Given the description of an element on the screen output the (x, y) to click on. 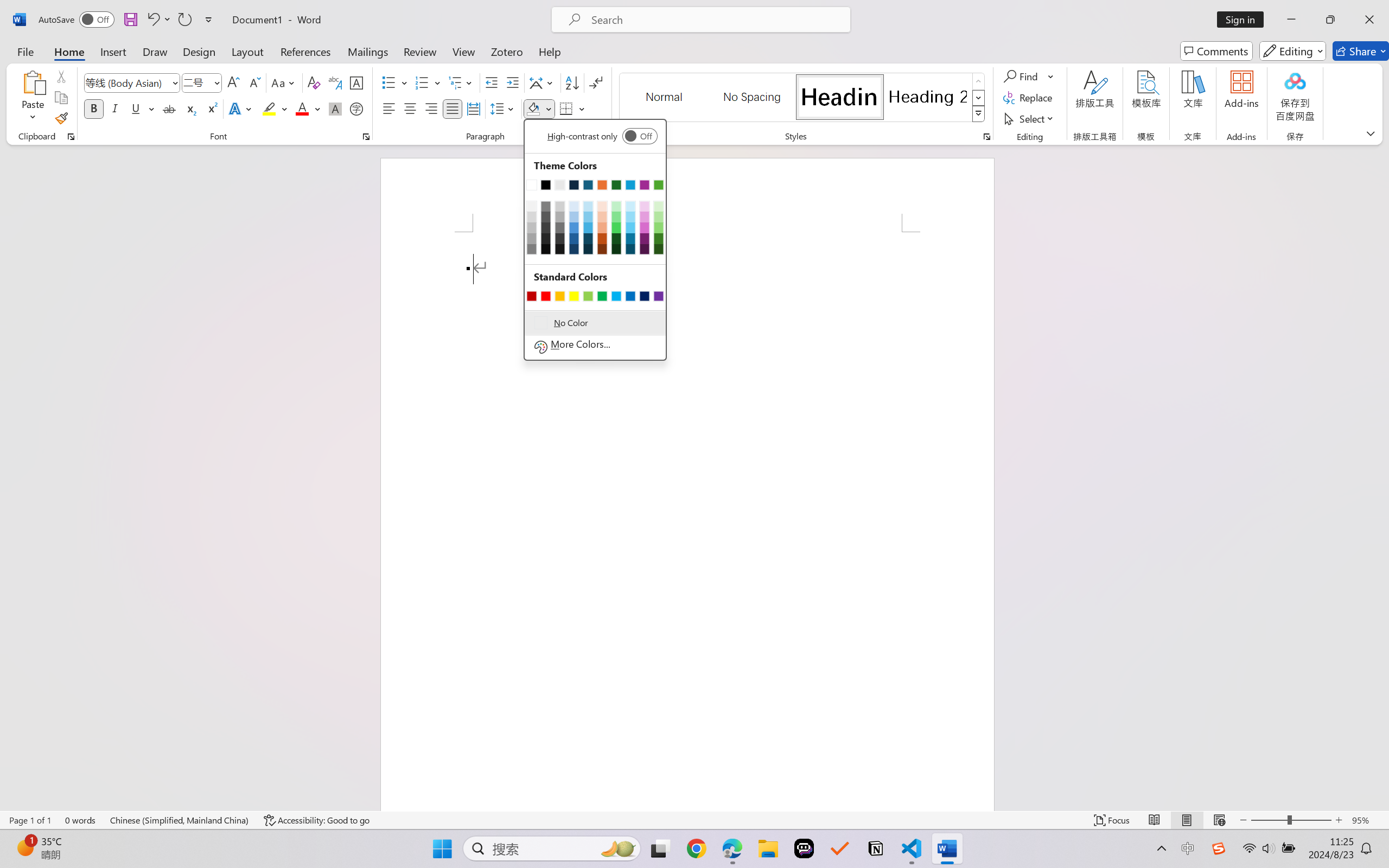
Undo Apply Quick Style (152, 19)
Language Chinese (Simplified, Mainland China) (179, 819)
